Given the description of an element on the screen output the (x, y) to click on. 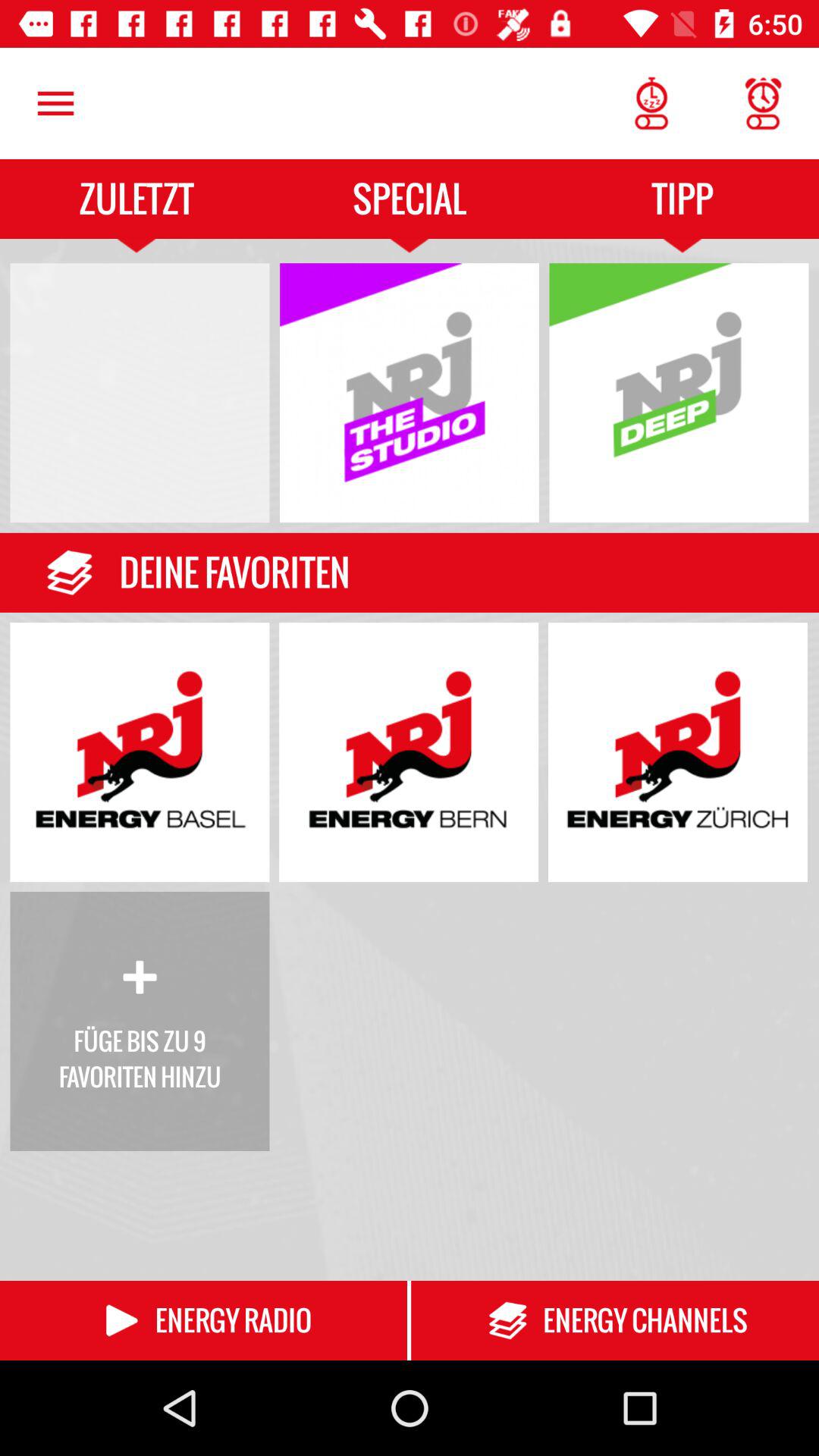
launch the icon next to the special icon (55, 103)
